Given the description of an element on the screen output the (x, y) to click on. 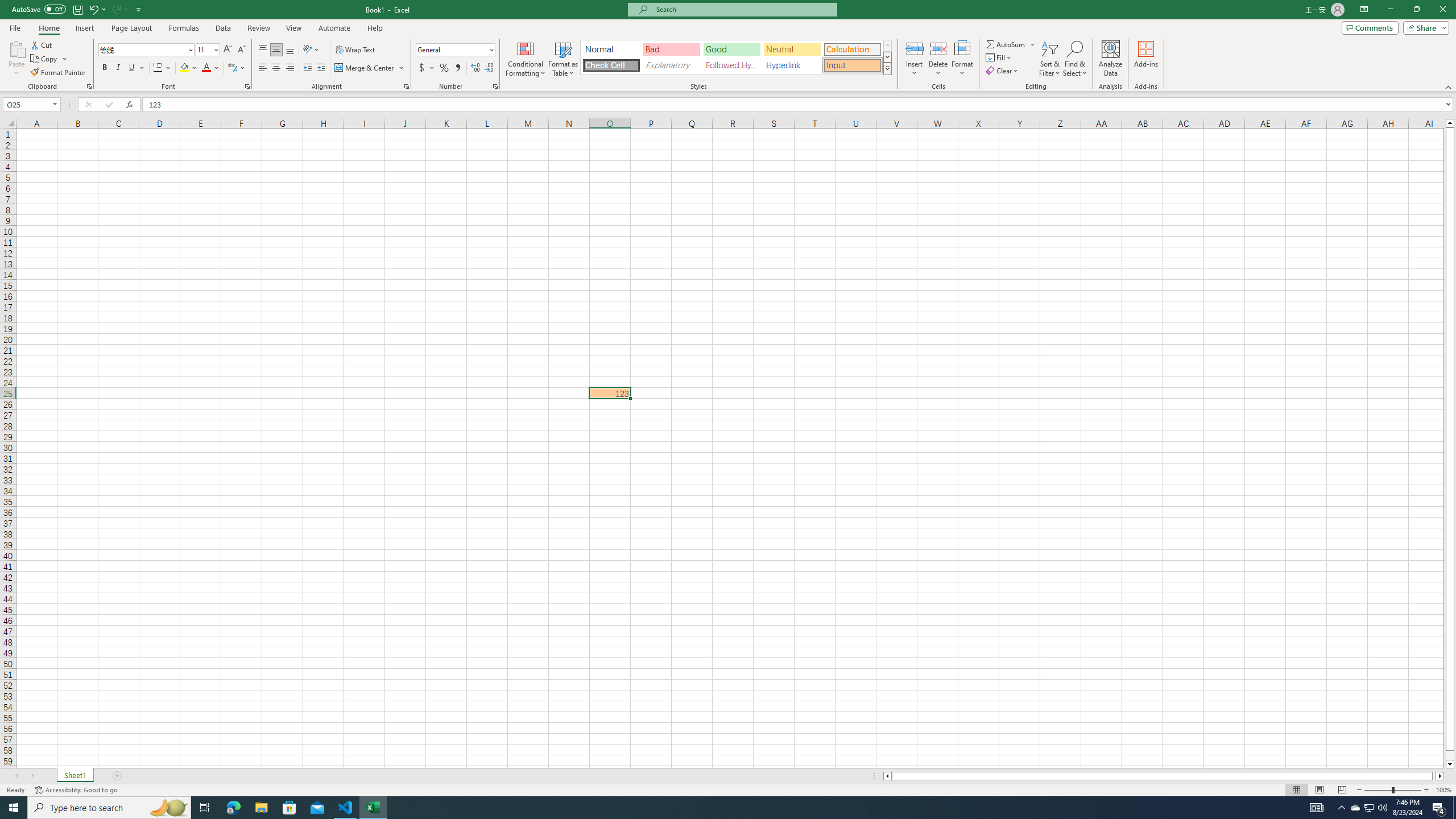
Cell Styles (887, 68)
Find & Select (1075, 58)
Sort & Filter (1049, 58)
Good (731, 49)
Copy (45, 58)
Check Cell (611, 65)
